Given the description of an element on the screen output the (x, y) to click on. 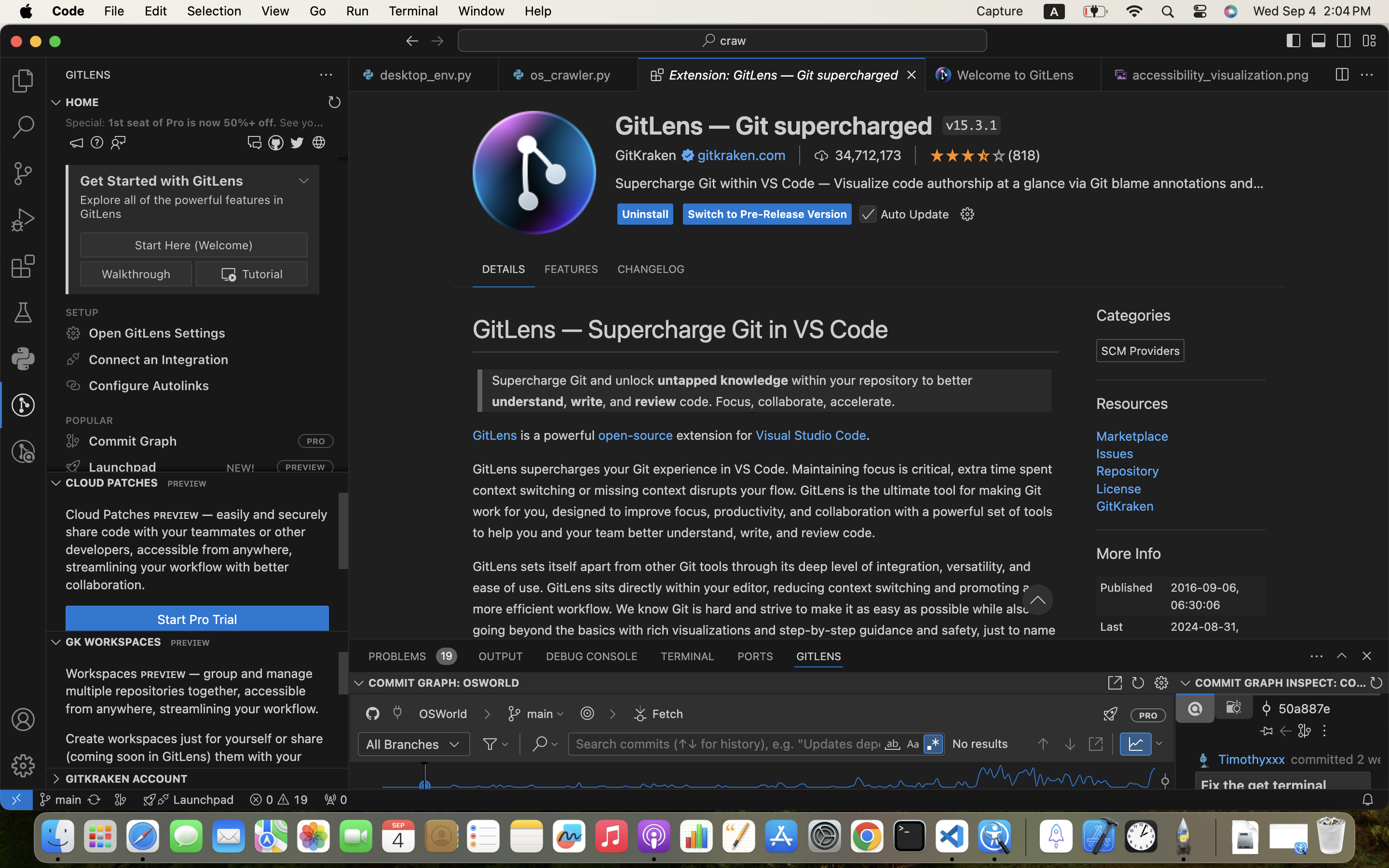
 Element type: AXStaticText (639, 713)
 0 Element type: AXButton (335, 799)
 Element type: AXButton (304, 108)
 Element type: AXButton (1341, 74)
 Element type: AXStaticText (454, 744)
